Given the description of an element on the screen output the (x, y) to click on. 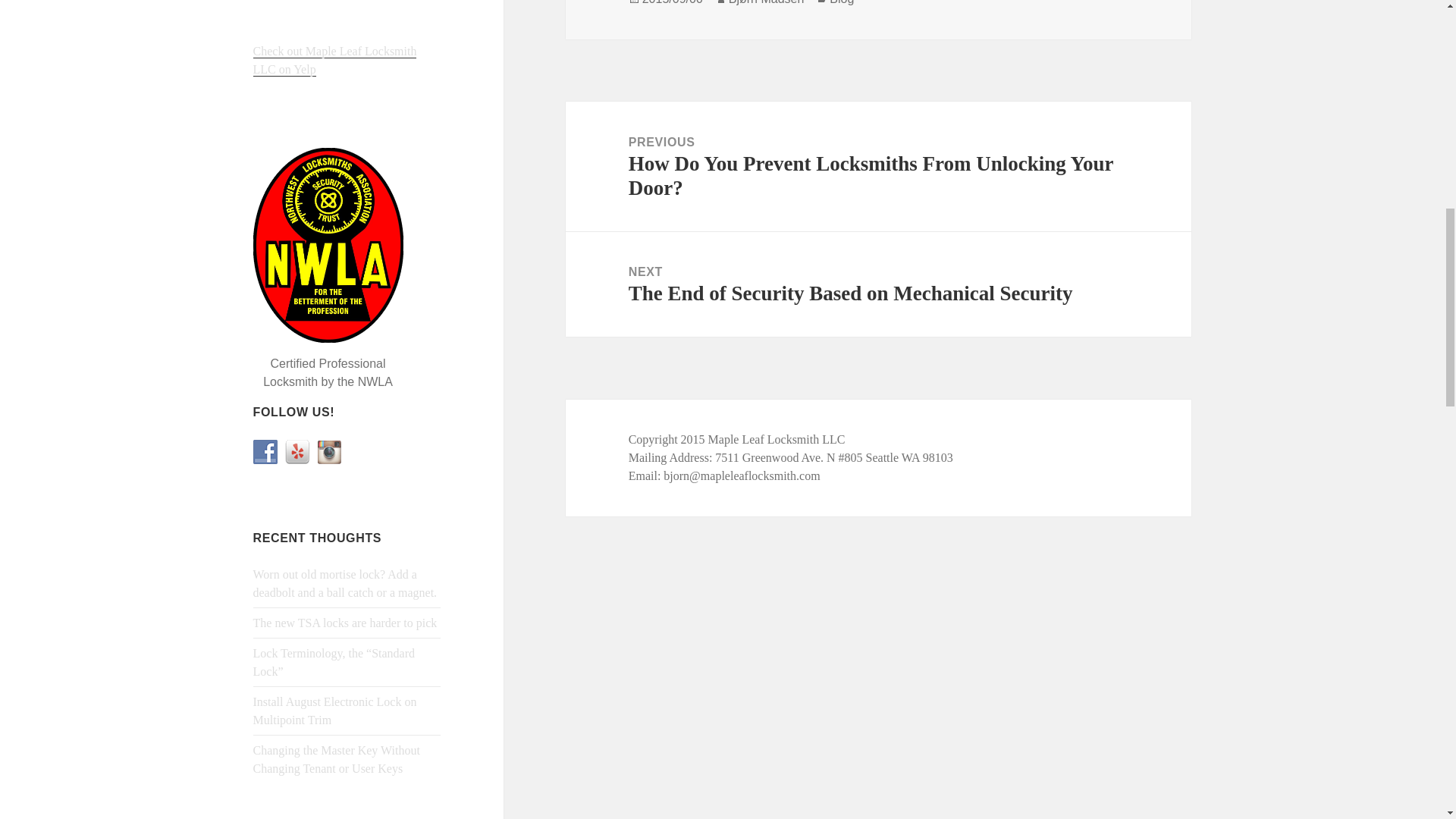
Follow Us on Facebook (265, 451)
Pictures of old locks (328, 451)
Follow Us on Yelp (296, 451)
